Given the description of an element on the screen output the (x, y) to click on. 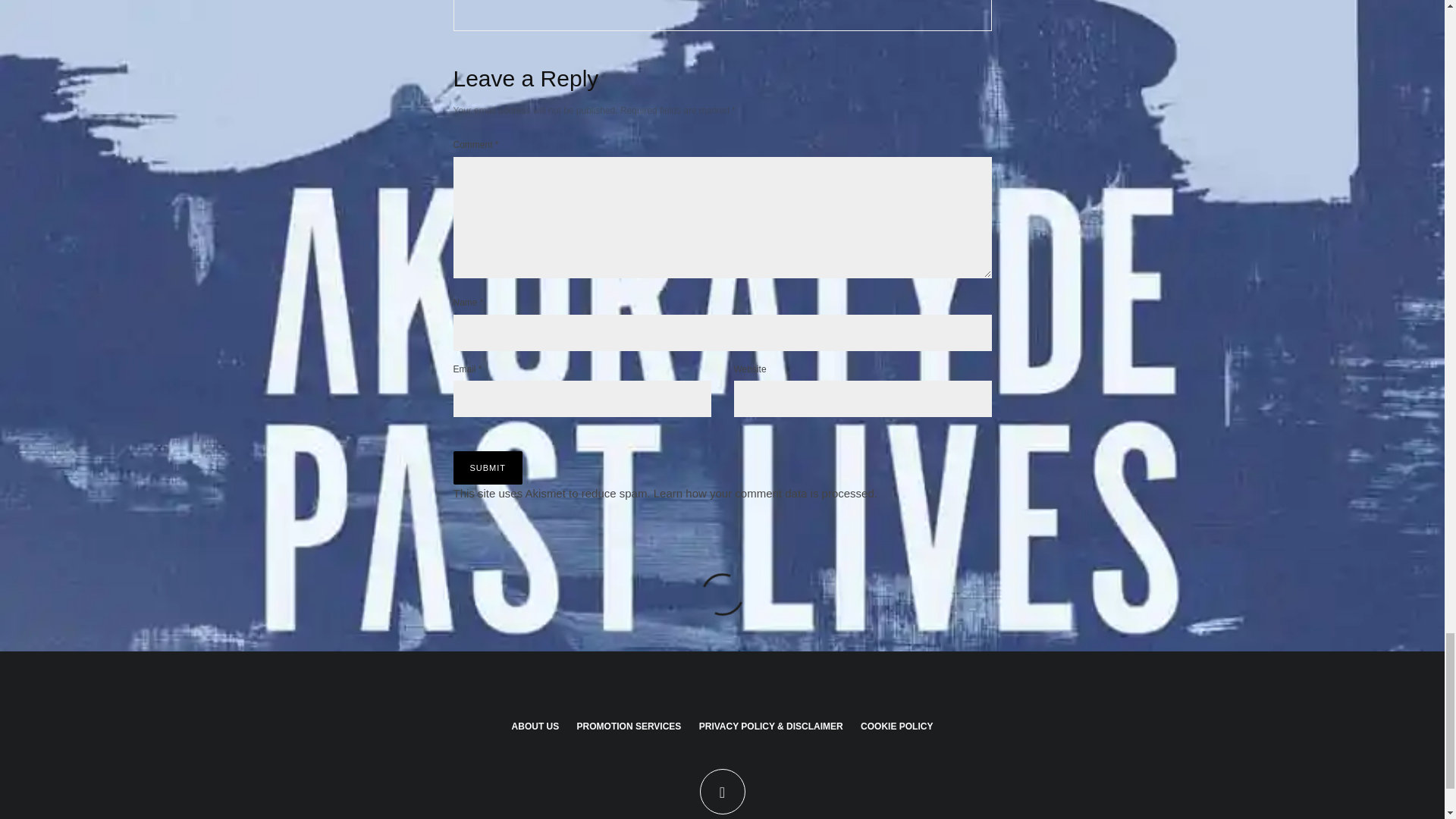
Submit (487, 467)
